Given the description of an element on the screen output the (x, y) to click on. 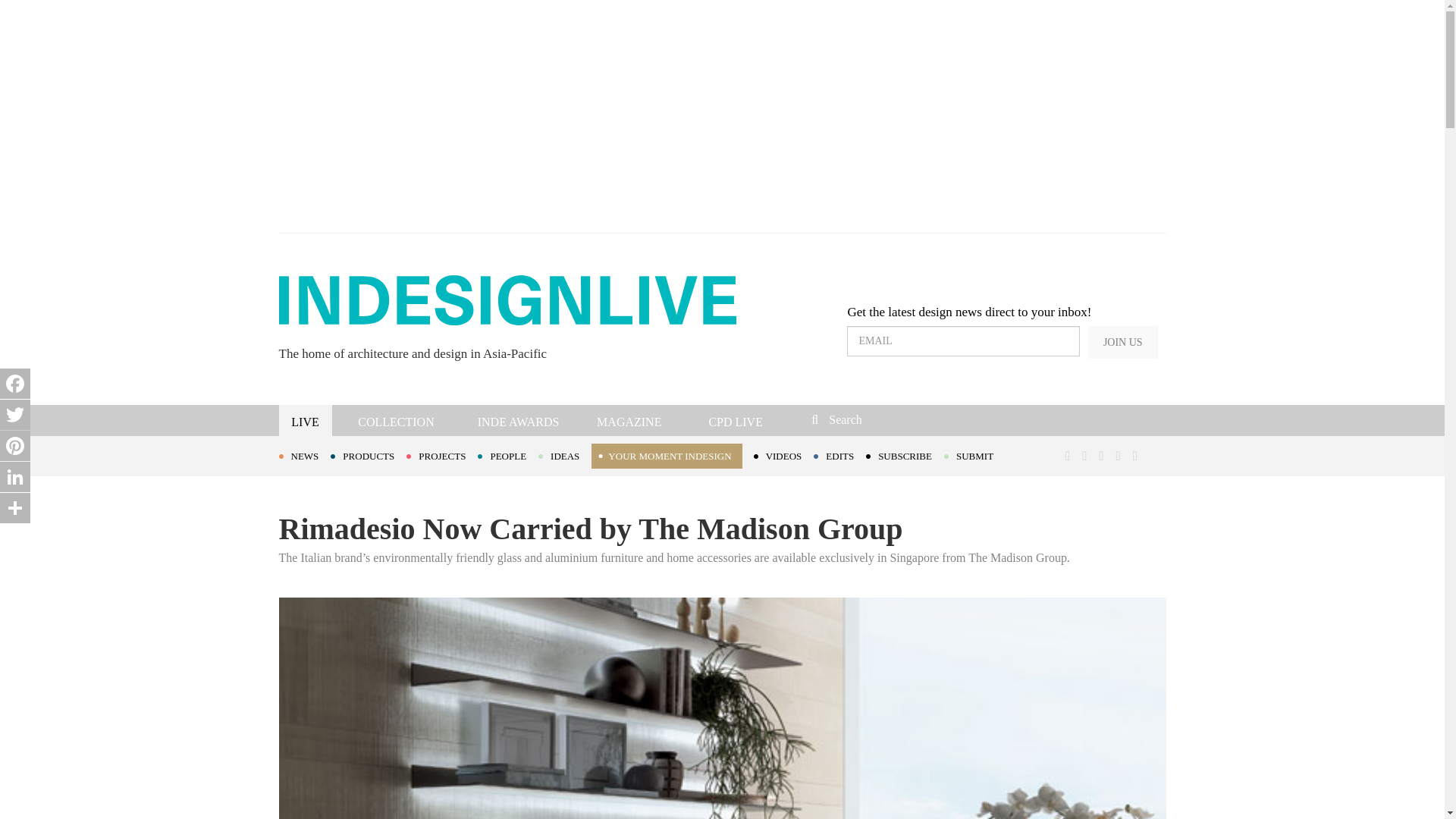
EDITS (839, 455)
PROJECTS (441, 455)
JOIN US (1122, 341)
SUBMIT (974, 455)
PRODUCTS (368, 455)
YOUR MOMENT INDESIGN (666, 455)
Search (913, 418)
VIDEOS (783, 455)
NEWS (305, 455)
IDEAS (564, 455)
PEOPLE (507, 455)
SUBSCRIBE (904, 455)
